Given the description of an element on the screen output the (x, y) to click on. 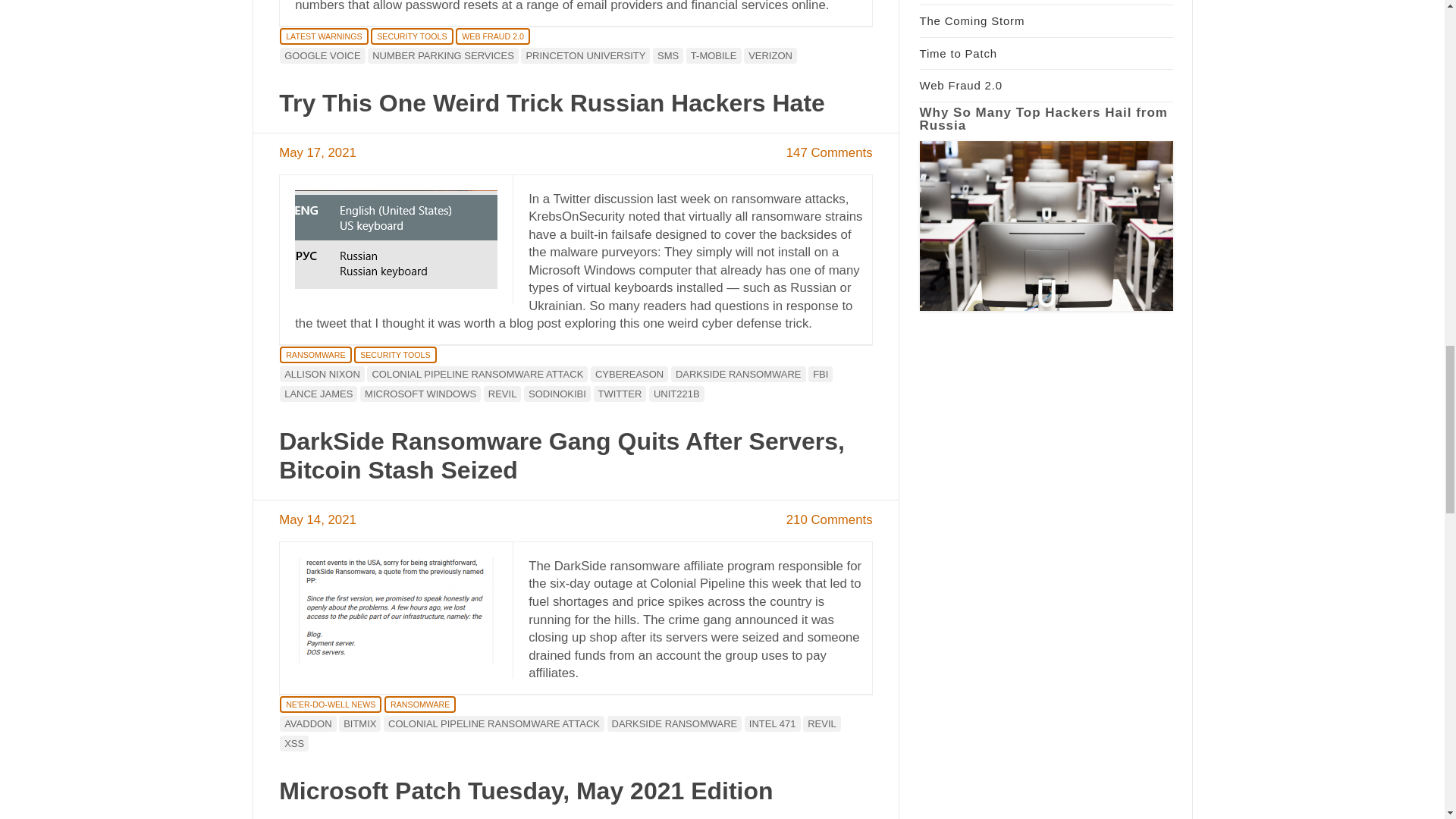
Permalink to Microsoft Patch Tuesday, May 2021 Edition (526, 790)
Permalink to Try This One Weird Trick Russian Hackers Hate (552, 103)
